Given the description of an element on the screen output the (x, y) to click on. 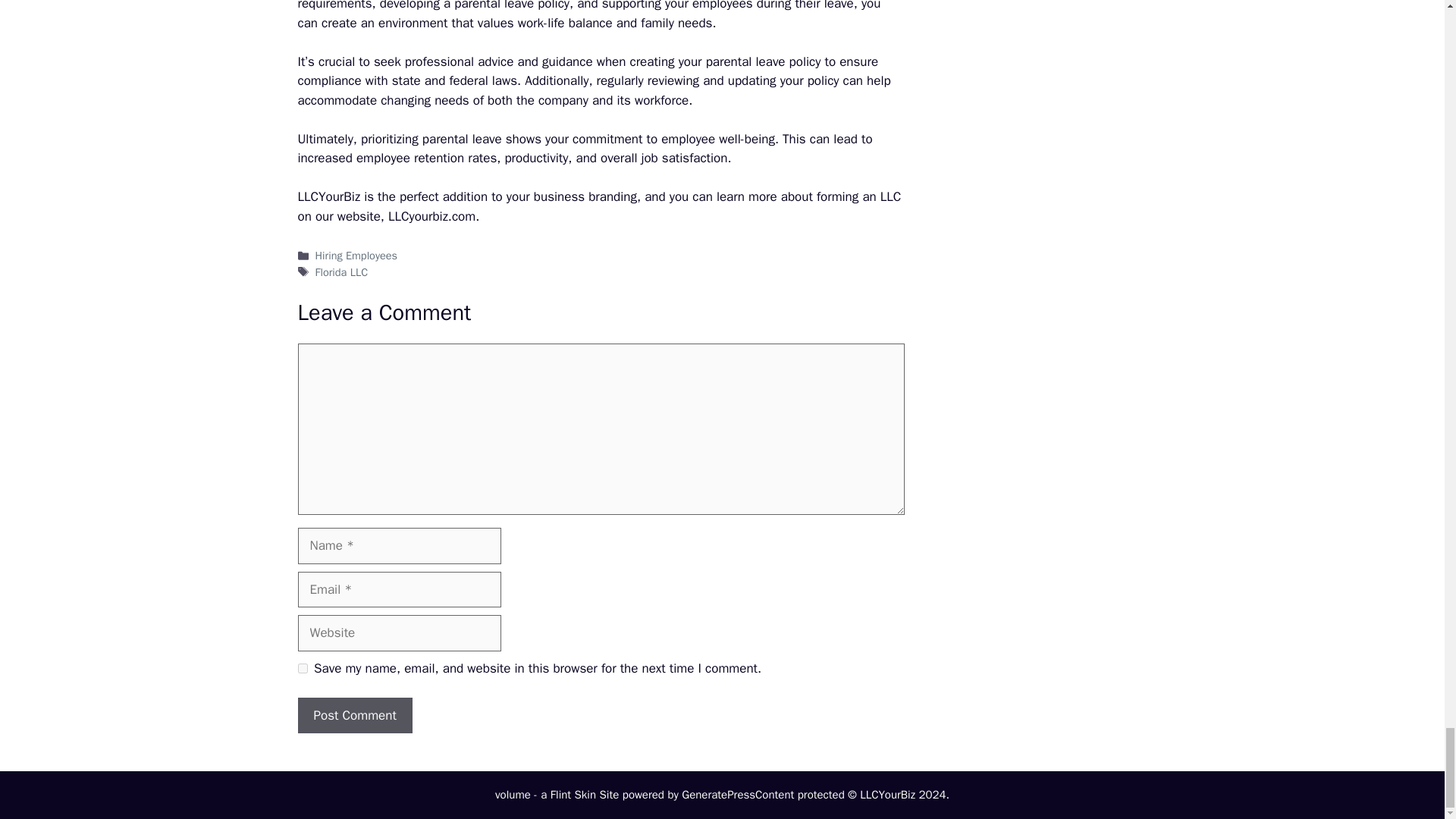
LLCYourBiz (328, 196)
LLCYourBiz (328, 196)
Post Comment (354, 715)
yes (302, 668)
